Given the description of an element on the screen output the (x, y) to click on. 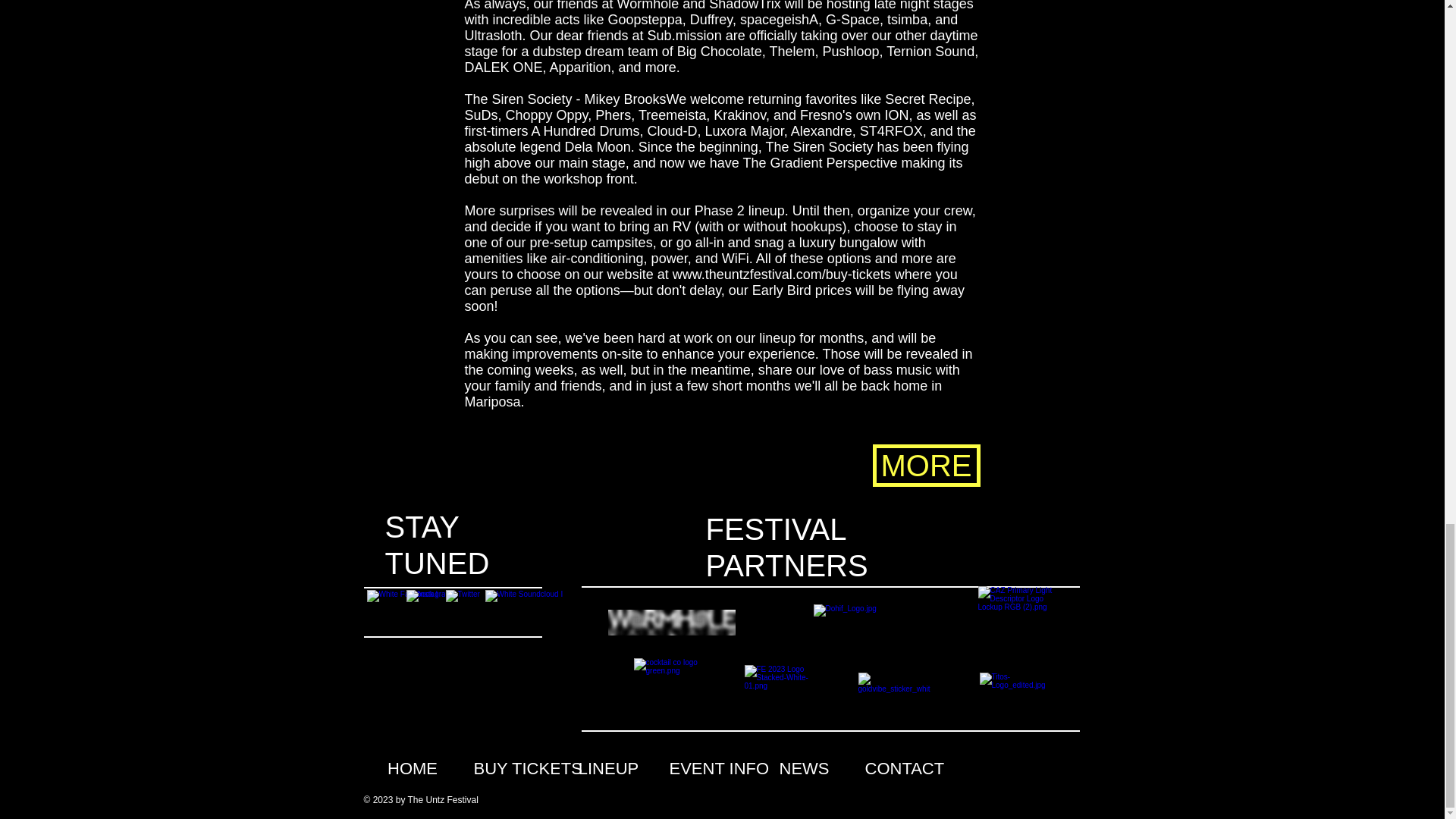
BUY TICKETS (510, 768)
CONTACT (900, 768)
NEWS (804, 768)
EVENT INFO (705, 768)
LINEUP (608, 768)
HOME (412, 768)
MORE (925, 465)
